Given the description of an element on the screen output the (x, y) to click on. 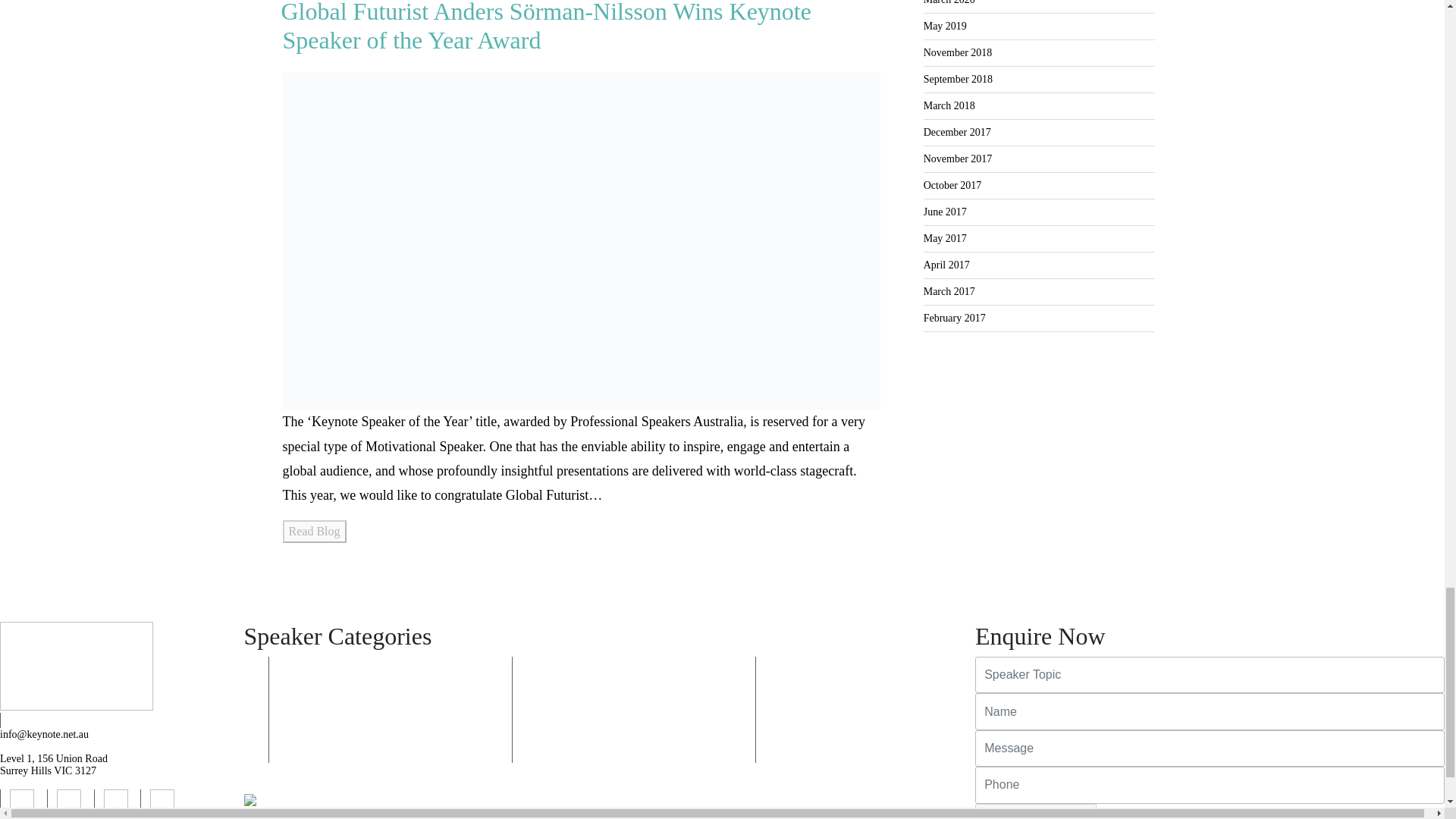
Read Blog (314, 531)
Read Blog (314, 530)
